Given the description of an element on the screen output the (x, y) to click on. 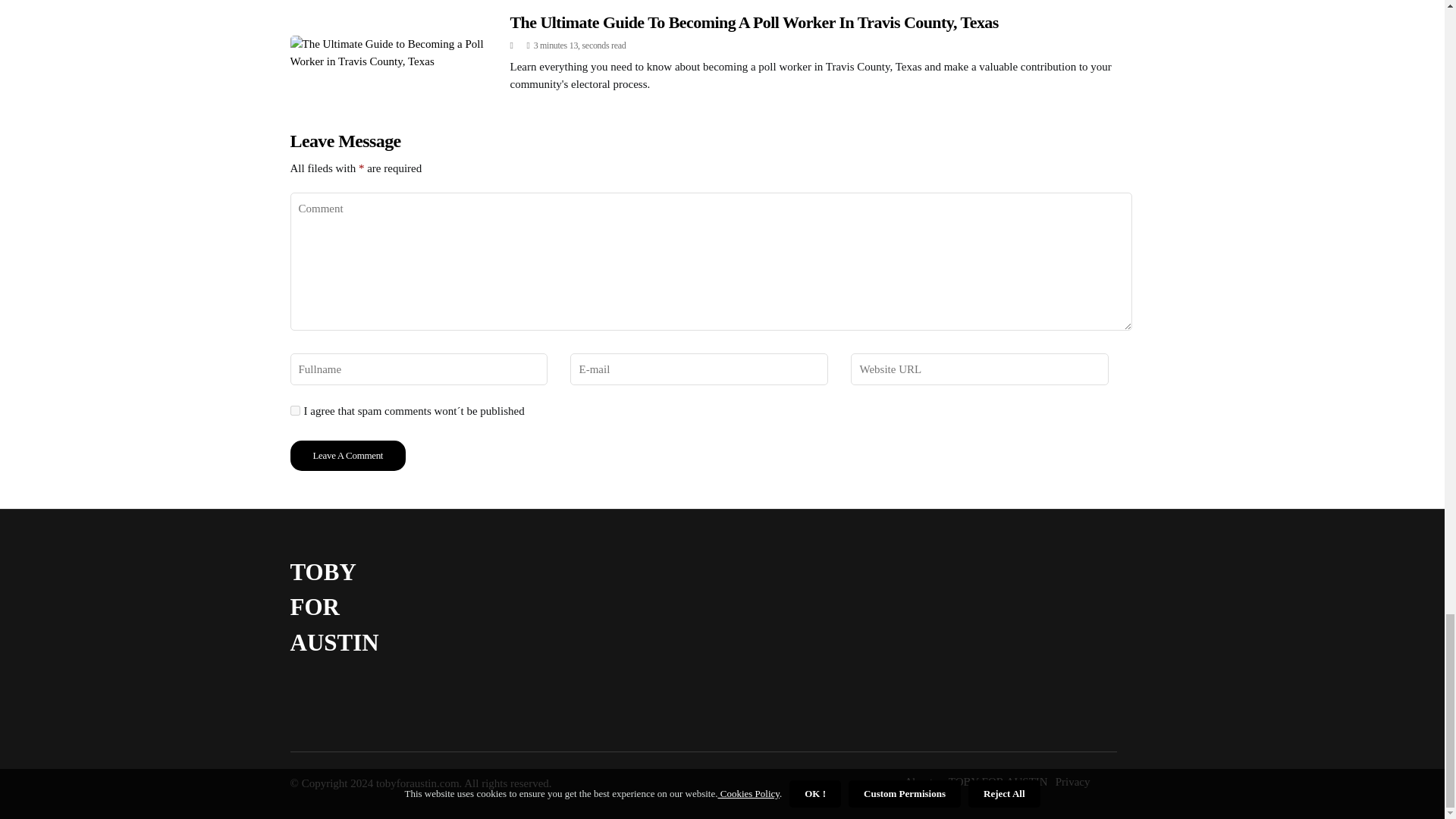
Leave a Comment (347, 455)
Leave a Comment (347, 455)
yes (294, 410)
